Given the description of an element on the screen output the (x, y) to click on. 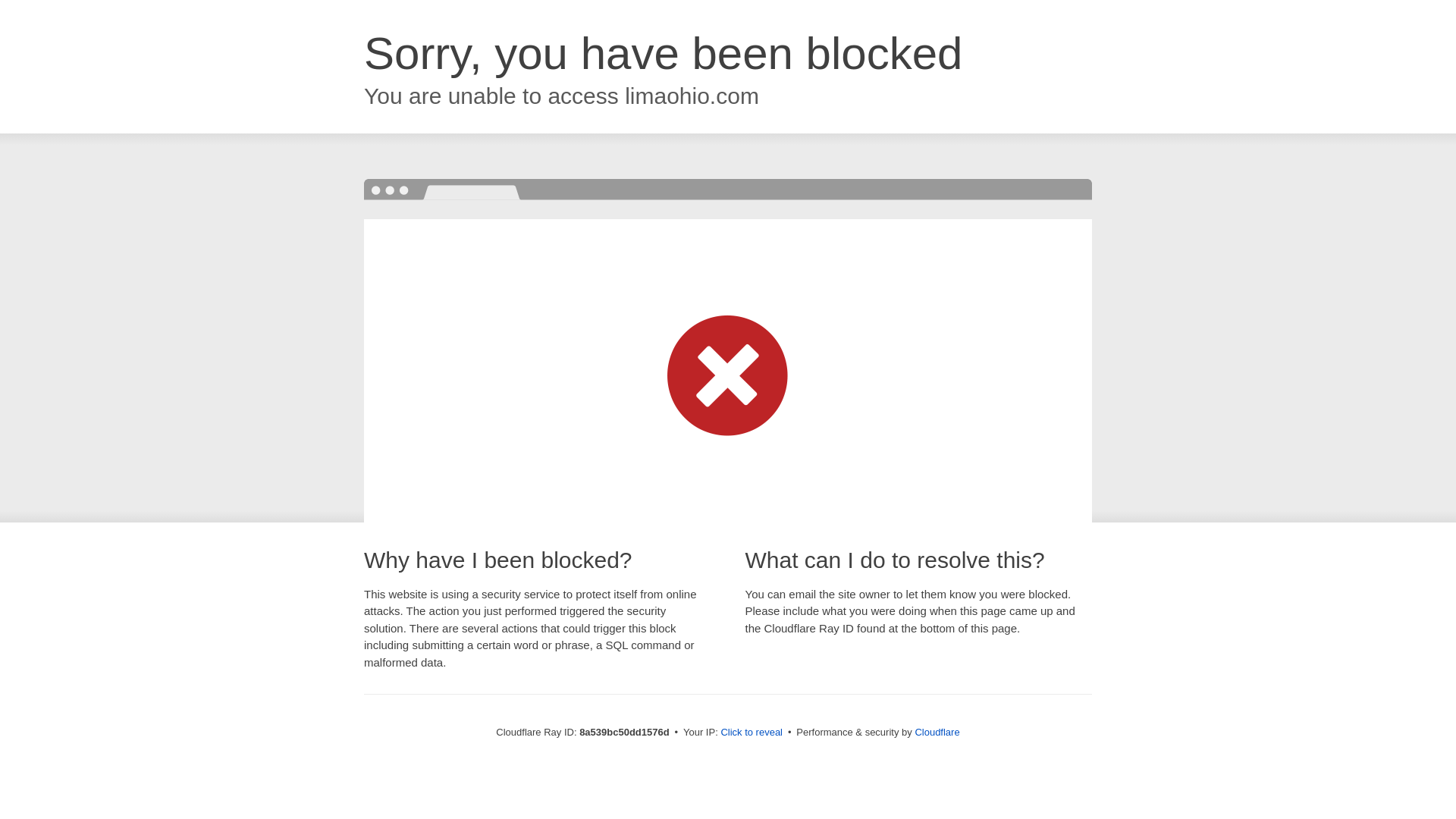
Cloudflare (936, 731)
Click to reveal (751, 732)
